Given the description of an element on the screen output the (x, y) to click on. 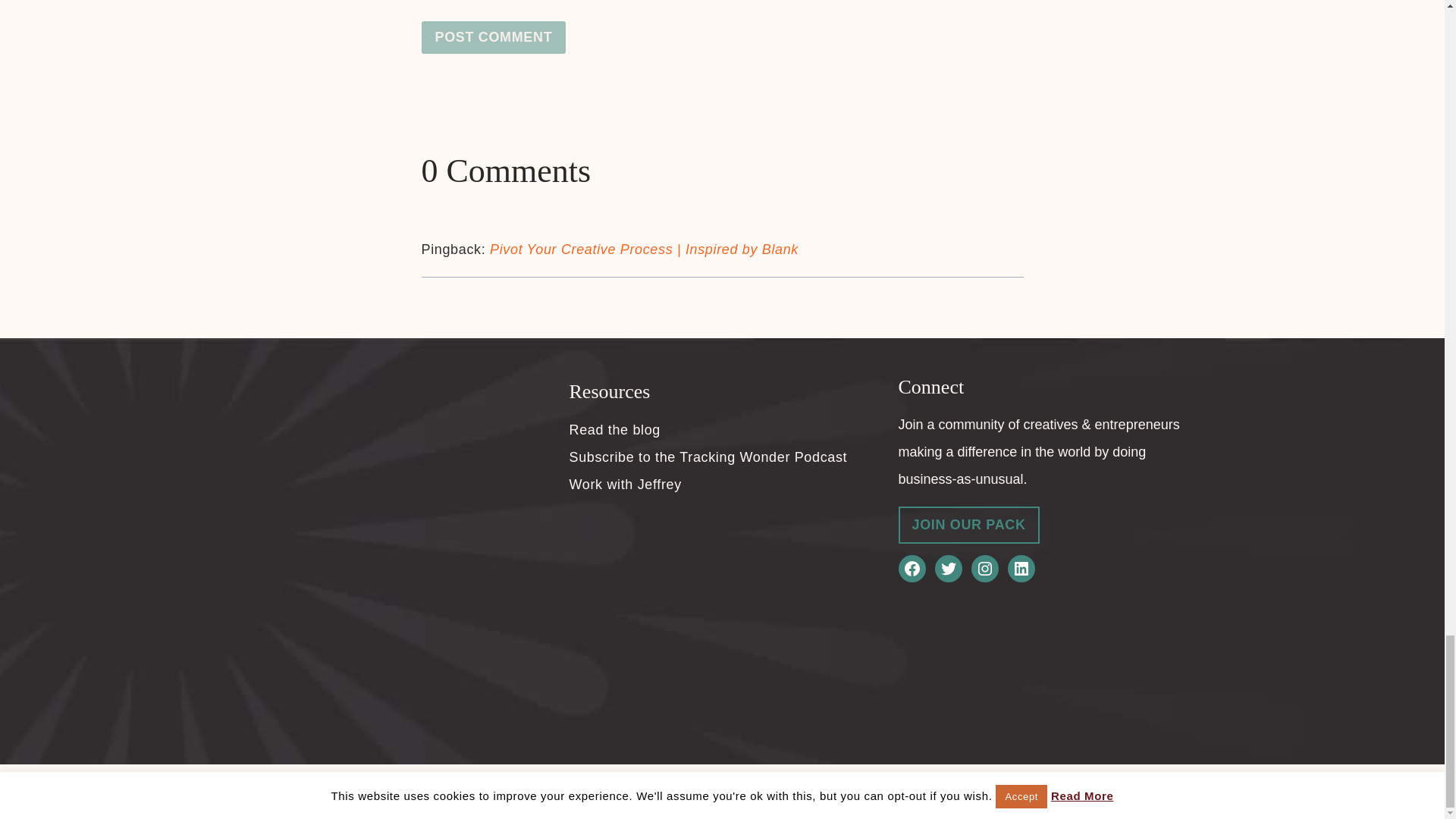
Post Comment (494, 37)
